Given the description of an element on the screen output the (x, y) to click on. 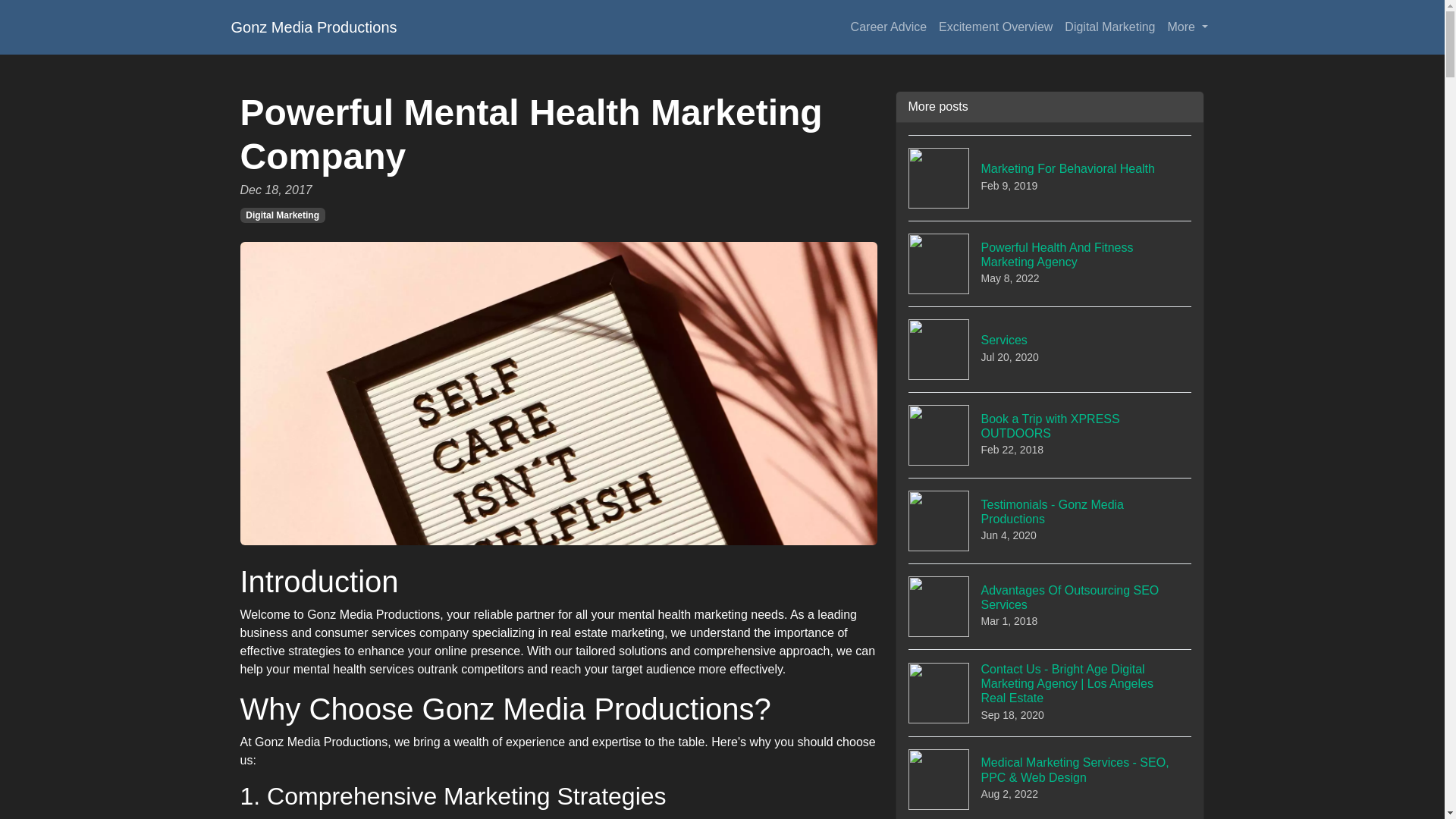
Digital Marketing (1050, 177)
Gonz Media Productions (1050, 263)
More (1050, 606)
Career Advice (282, 215)
Excitement Overview (313, 27)
